Given the description of an element on the screen output the (x, y) to click on. 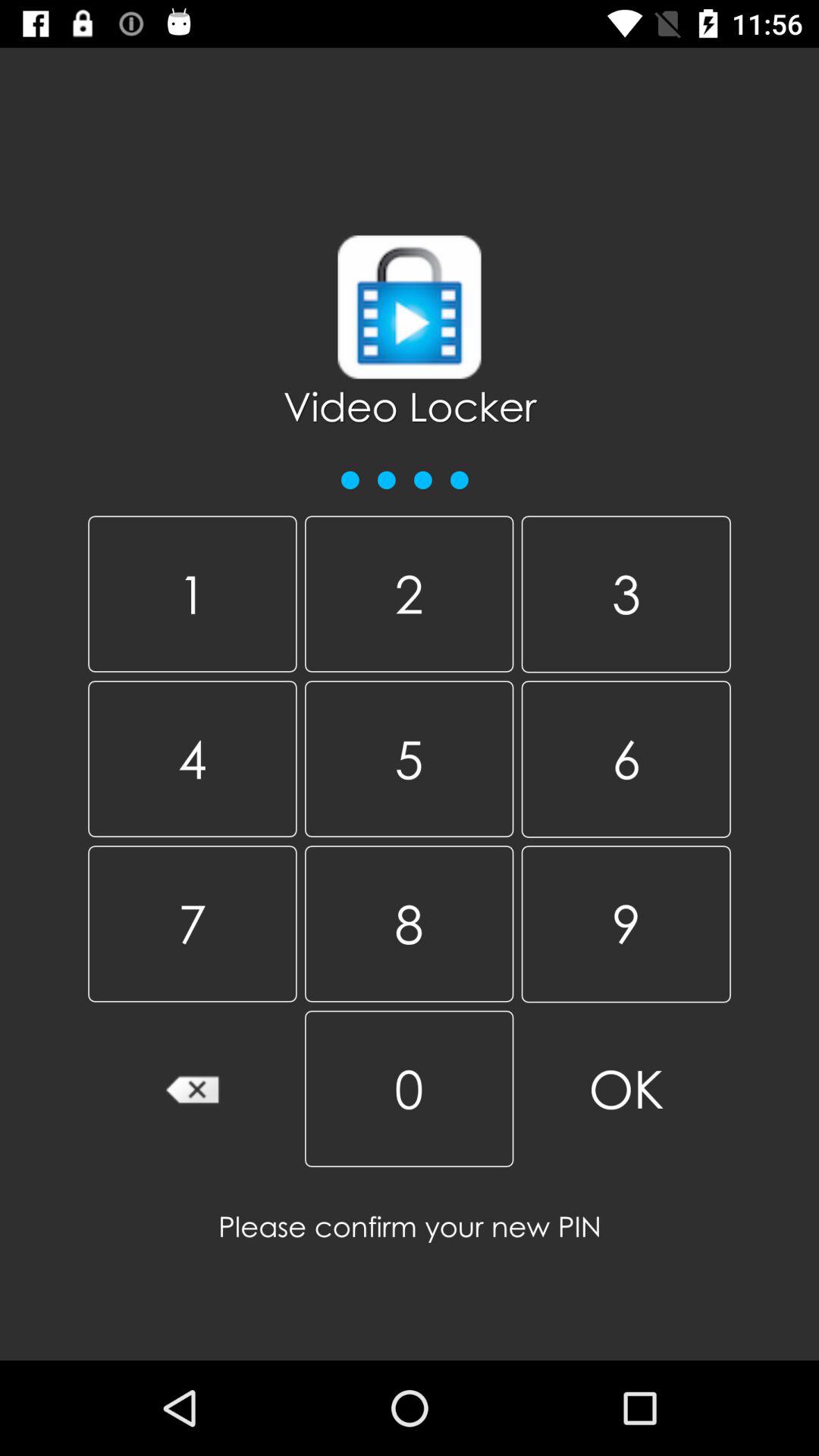
turn on the icon above the 1 icon (406, 472)
